Given the description of an element on the screen output the (x, y) to click on. 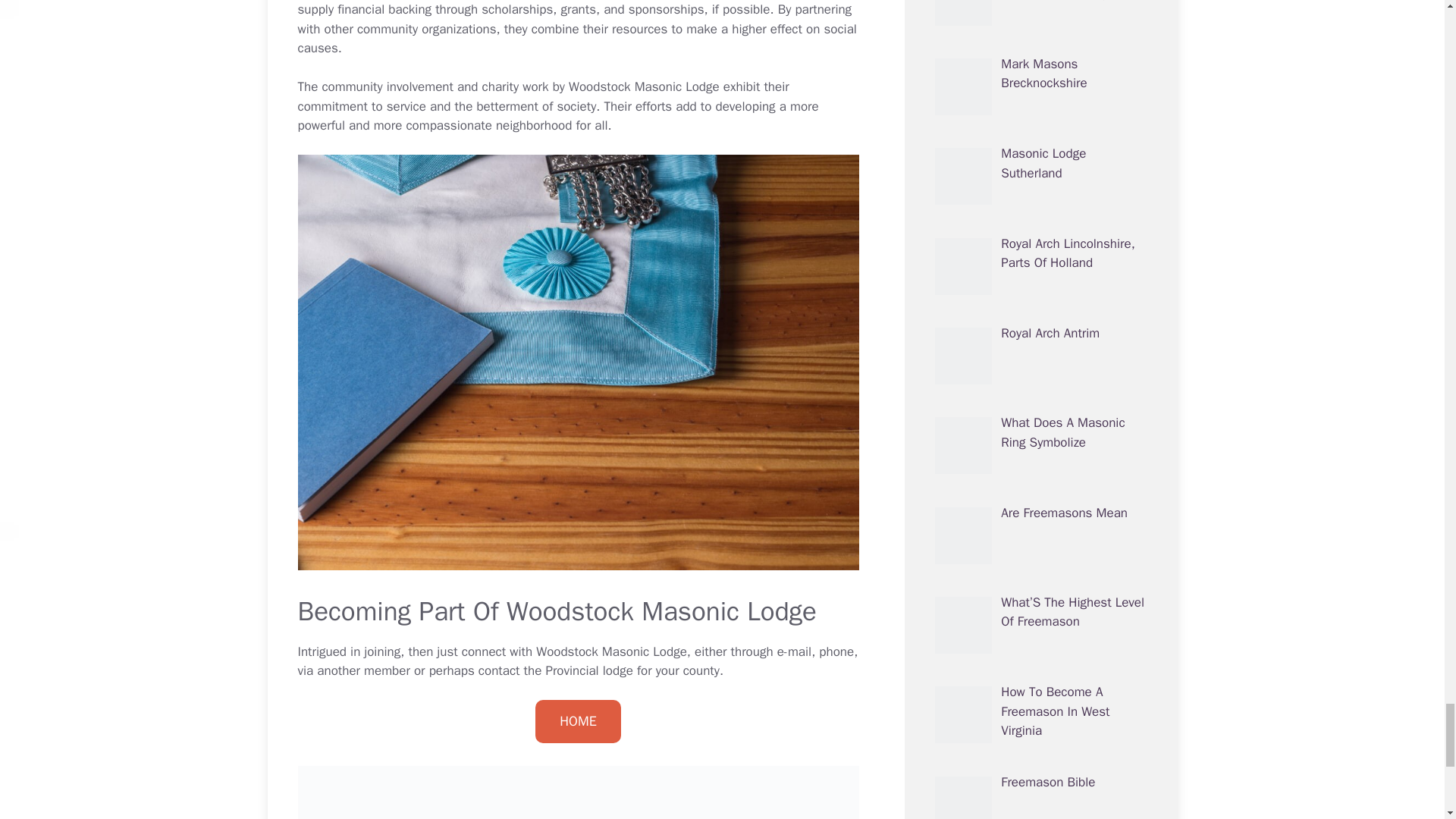
HOME (578, 721)
